Given the description of an element on the screen output the (x, y) to click on. 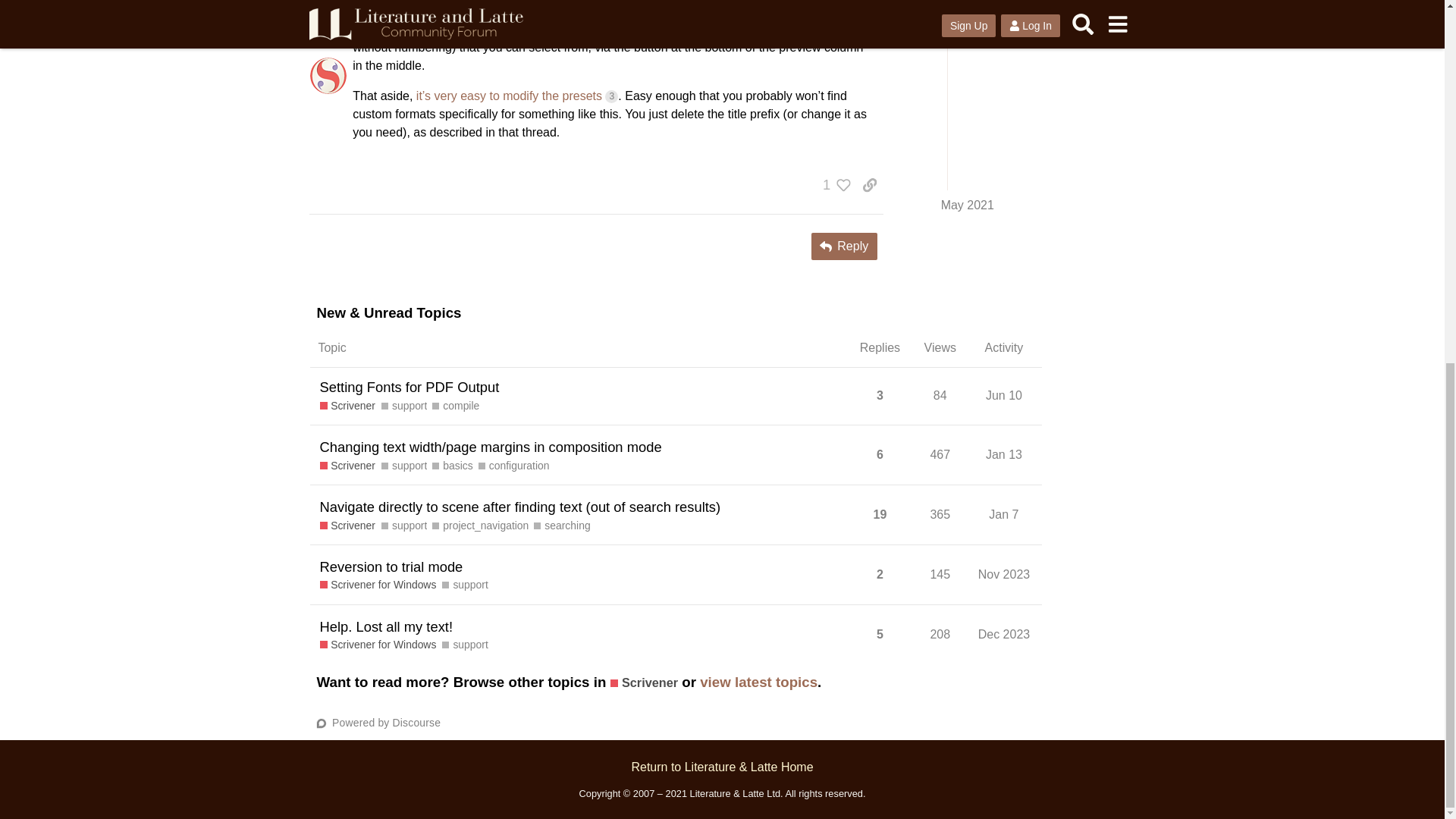
Setting Fonts for PDF Output (409, 386)
support (403, 406)
Scrivener (347, 465)
compile (455, 406)
Reply (843, 246)
Scrivener (347, 406)
Jun 10 (1003, 395)
1 (832, 184)
support (403, 465)
